Given the description of an element on the screen output the (x, y) to click on. 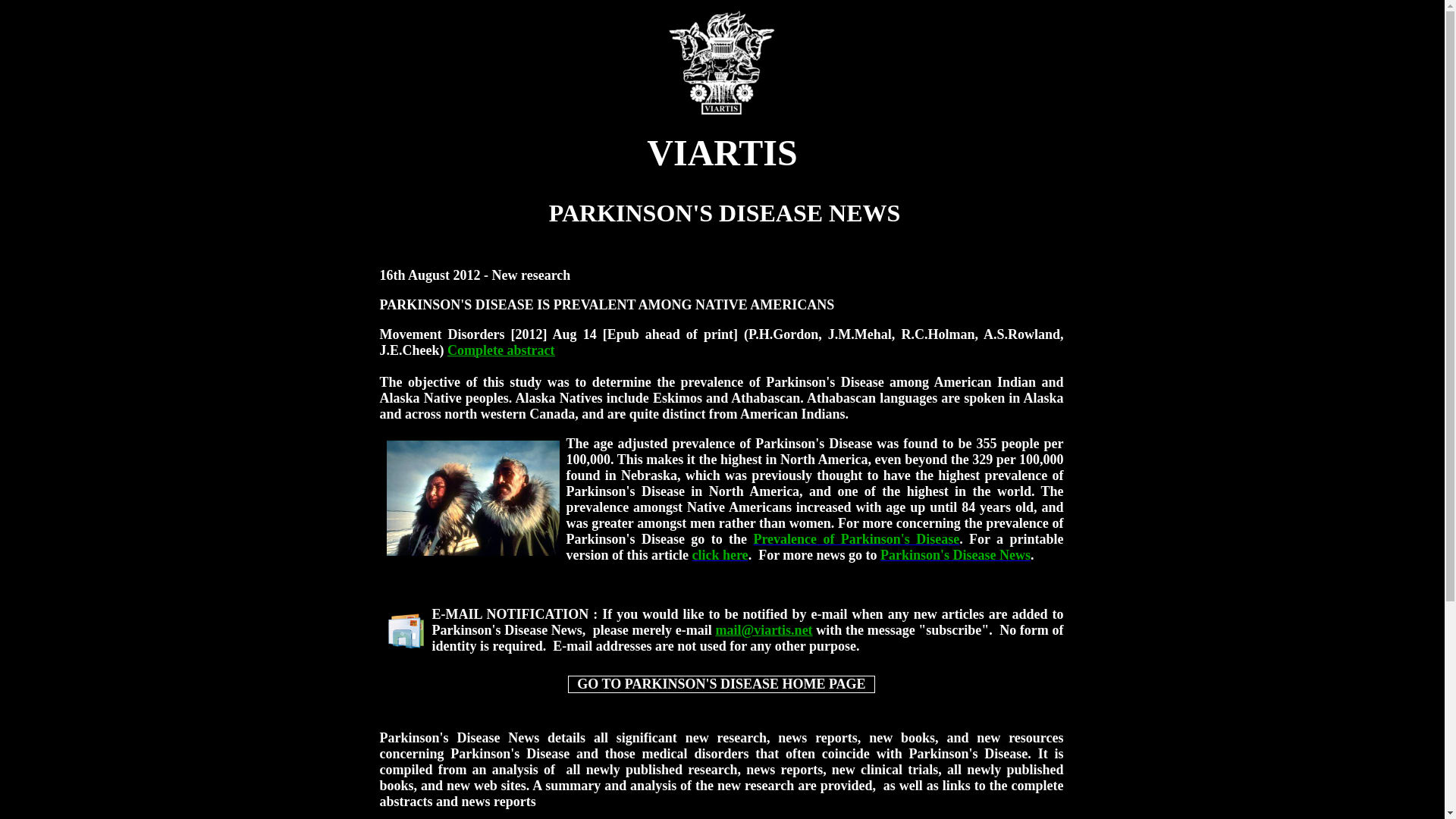
Parkinson's Disease News (955, 554)
GO TO PARKINSON'S DISEASE HOME PAGE (720, 683)
Complete abstract (500, 350)
click here (719, 554)
Prevalence of Parkinson's Disease (855, 539)
